Given the description of an element on the screen output the (x, y) to click on. 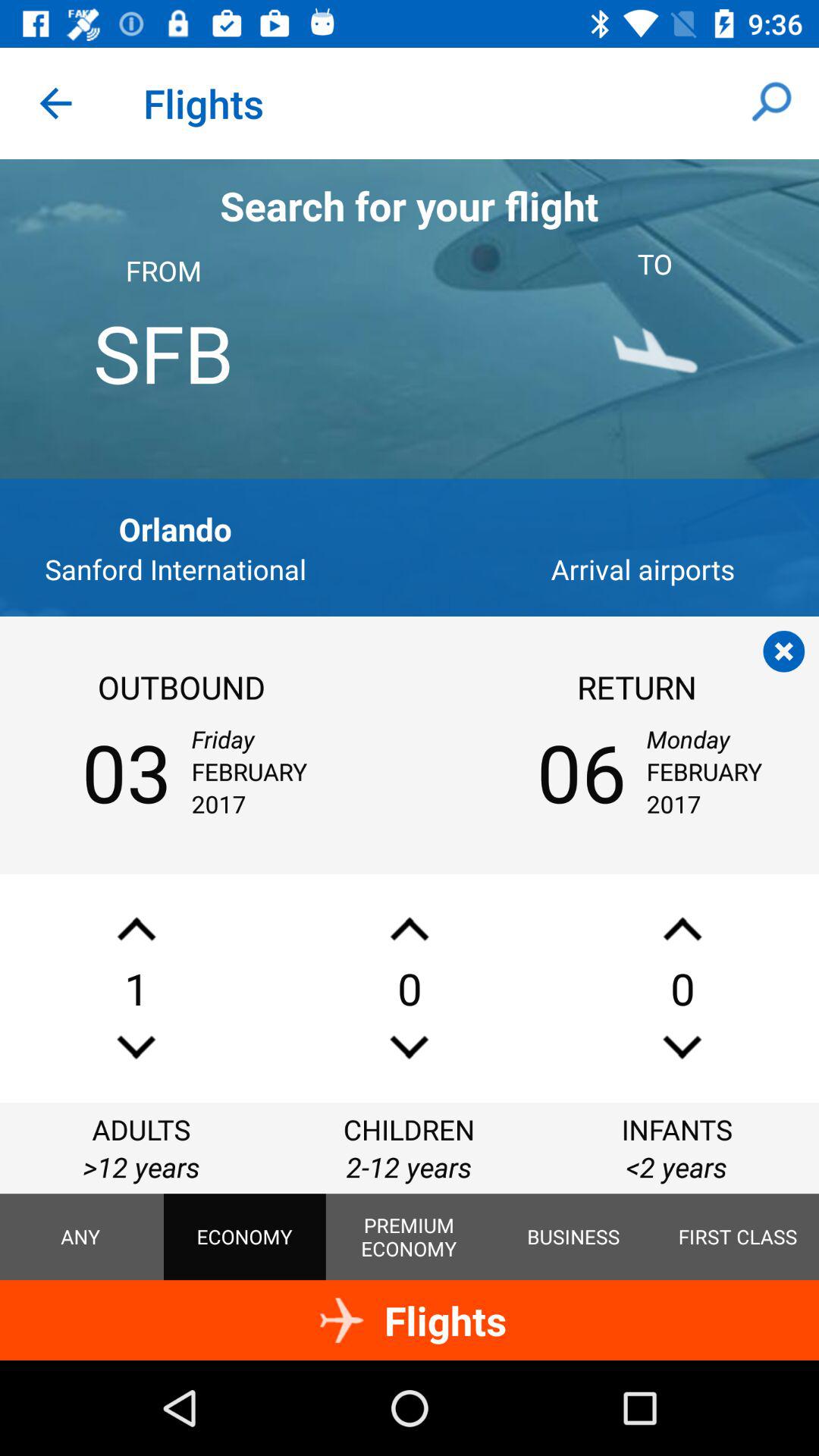
open the icon to the right of the economy icon (409, 1236)
